Given the description of an element on the screen output the (x, y) to click on. 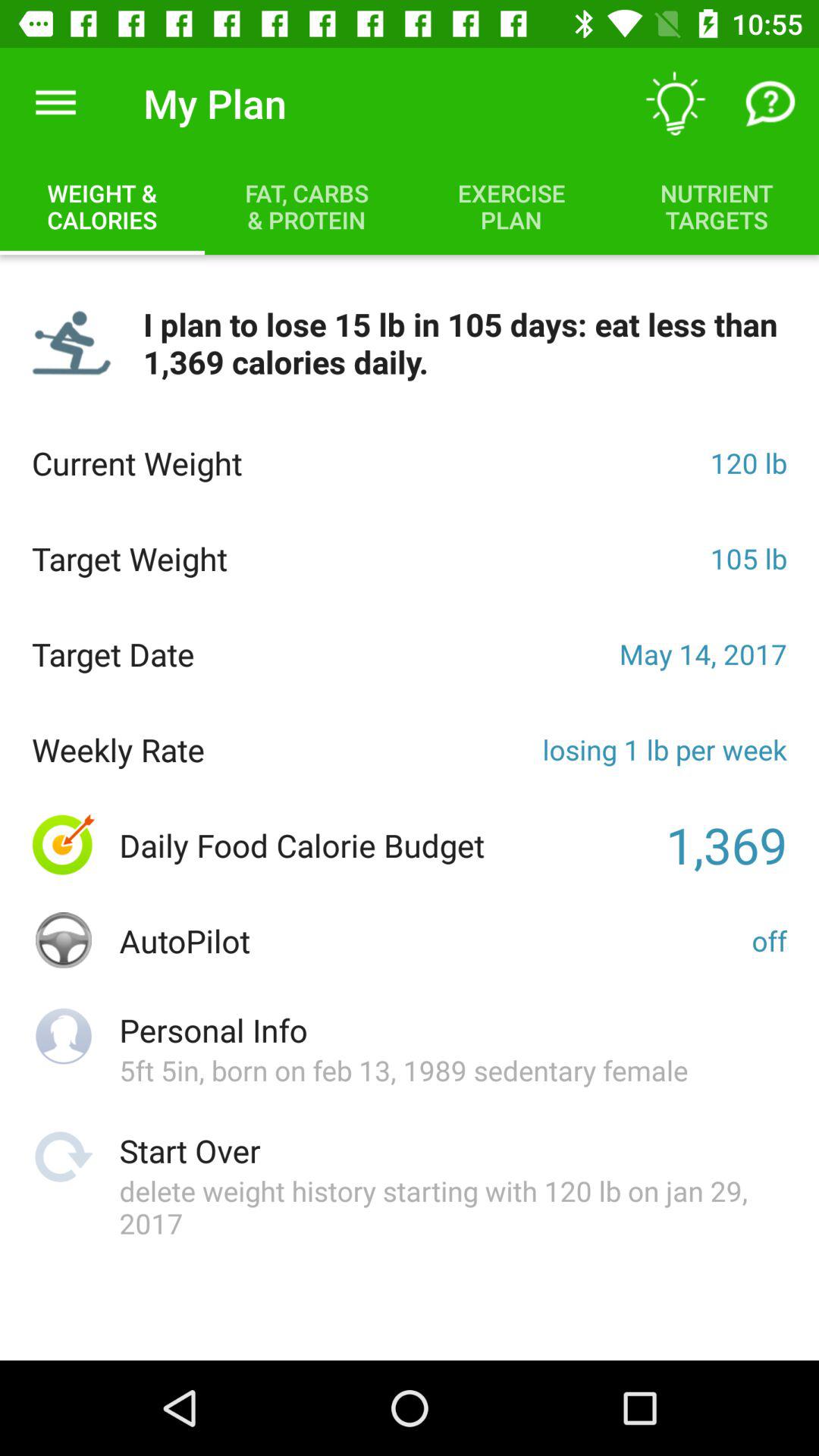
press the icon next to my plan item (55, 103)
